Given the description of an element on the screen output the (x, y) to click on. 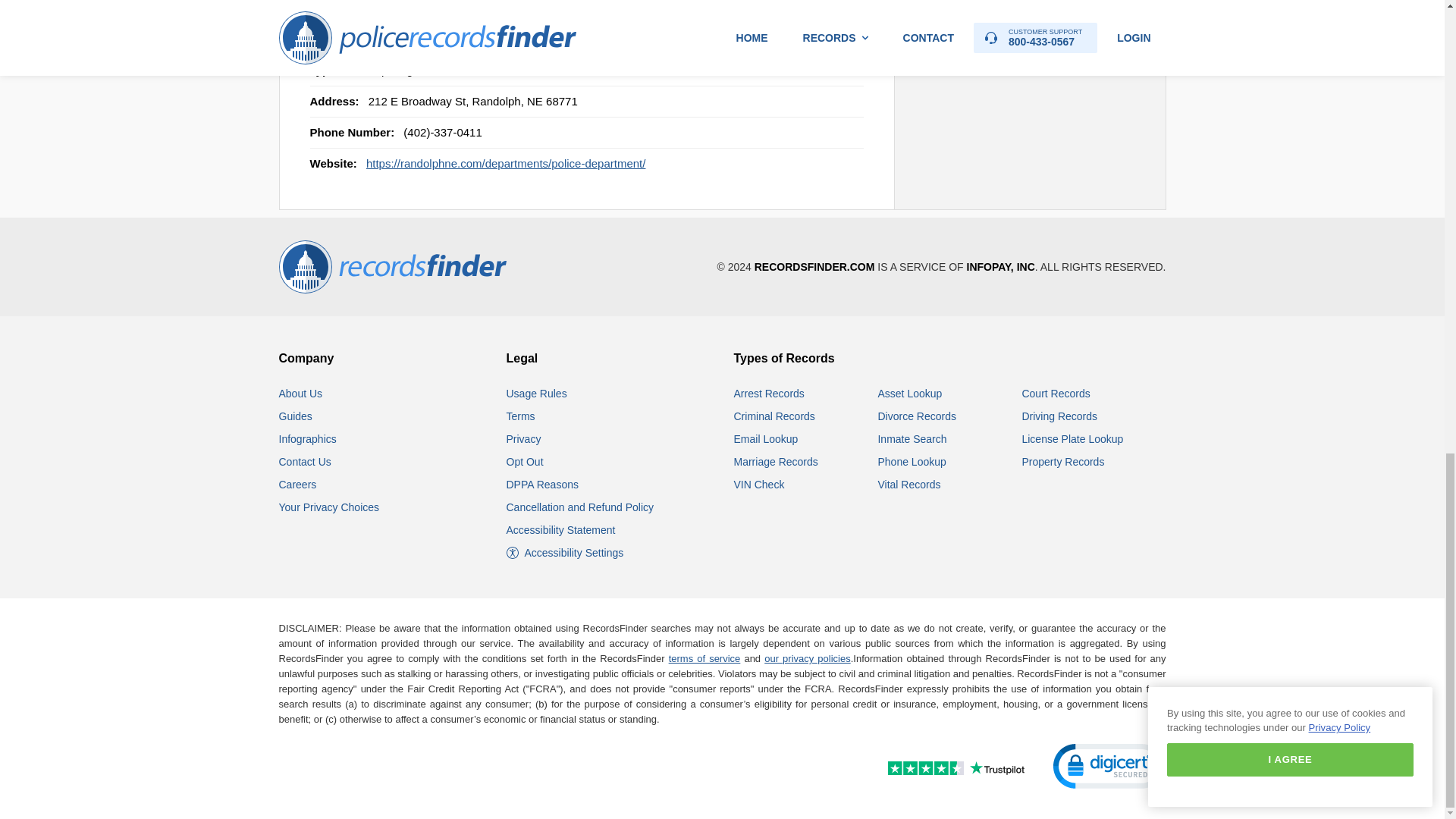
Your Privacy Choices (329, 507)
Contact RecordsFinder.com (305, 461)
RecordsFinder.com DPPA Reasons (542, 484)
RecordsFinder.com Opt Out Instructions (524, 461)
Careers at RecordsFinder.com (298, 484)
RecordsFinder.com Privacy Policy (523, 439)
RecordsFinder.com Cancellation and Refund Policy (579, 507)
About RecordsFinder.com (301, 393)
View Public Records Infographics and Statistics (307, 439)
RecordsFinder.com Usage Rules (536, 393)
Customer reviews powered by Trustpilot (922, 769)
Guides and How tos (296, 416)
RecordsFinder.com Accessibility Statement (560, 530)
RecordsFinder.com Terms and Conditions (520, 416)
